Given the description of an element on the screen output the (x, y) to click on. 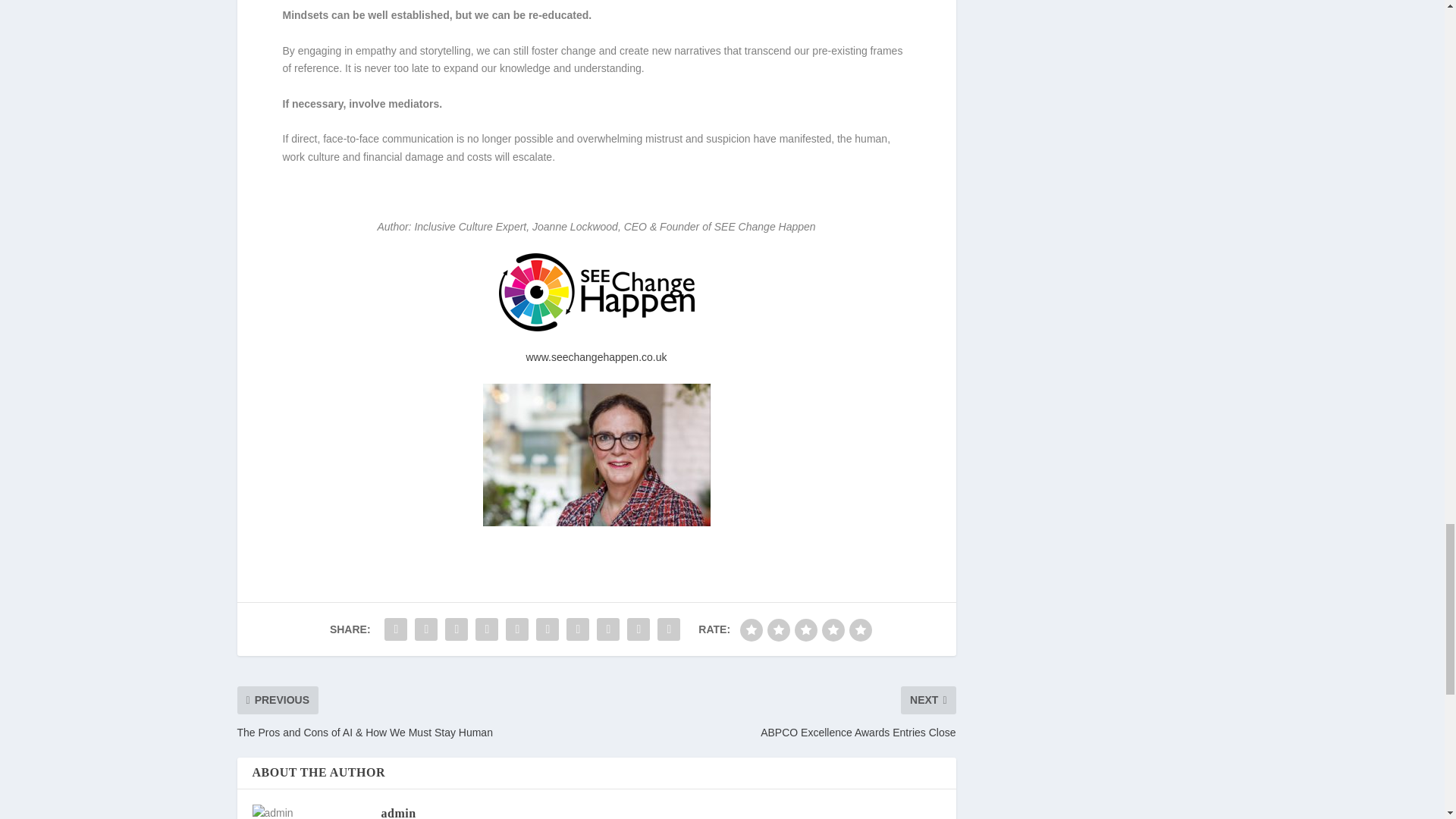
bad (750, 630)
admin (397, 812)
www.seechangehappen.co.uk (595, 357)
